Given the description of an element on the screen output the (x, y) to click on. 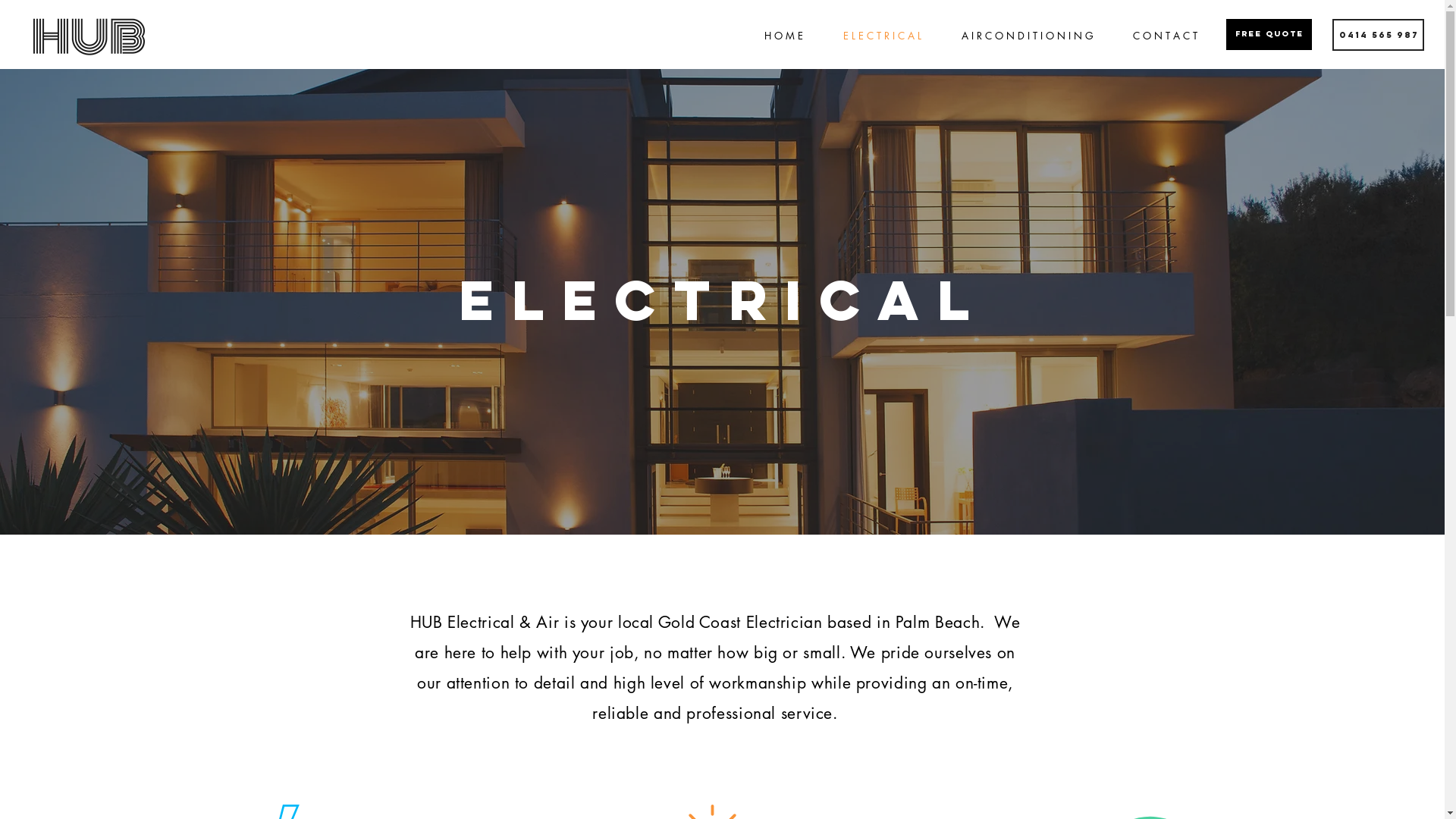
FREE QUOTE Element type: text (1268, 34)
A I R C O N D I T I O N I N G Element type: text (1027, 35)
0414 565 987 Element type: text (1378, 34)
H O M E Element type: text (782, 35)
C O N T A C T Element type: text (1165, 35)
Embedded Content Element type: hover (435, 33)
E L E C T R I C A L Element type: text (881, 35)
